Given the description of an element on the screen output the (x, y) to click on. 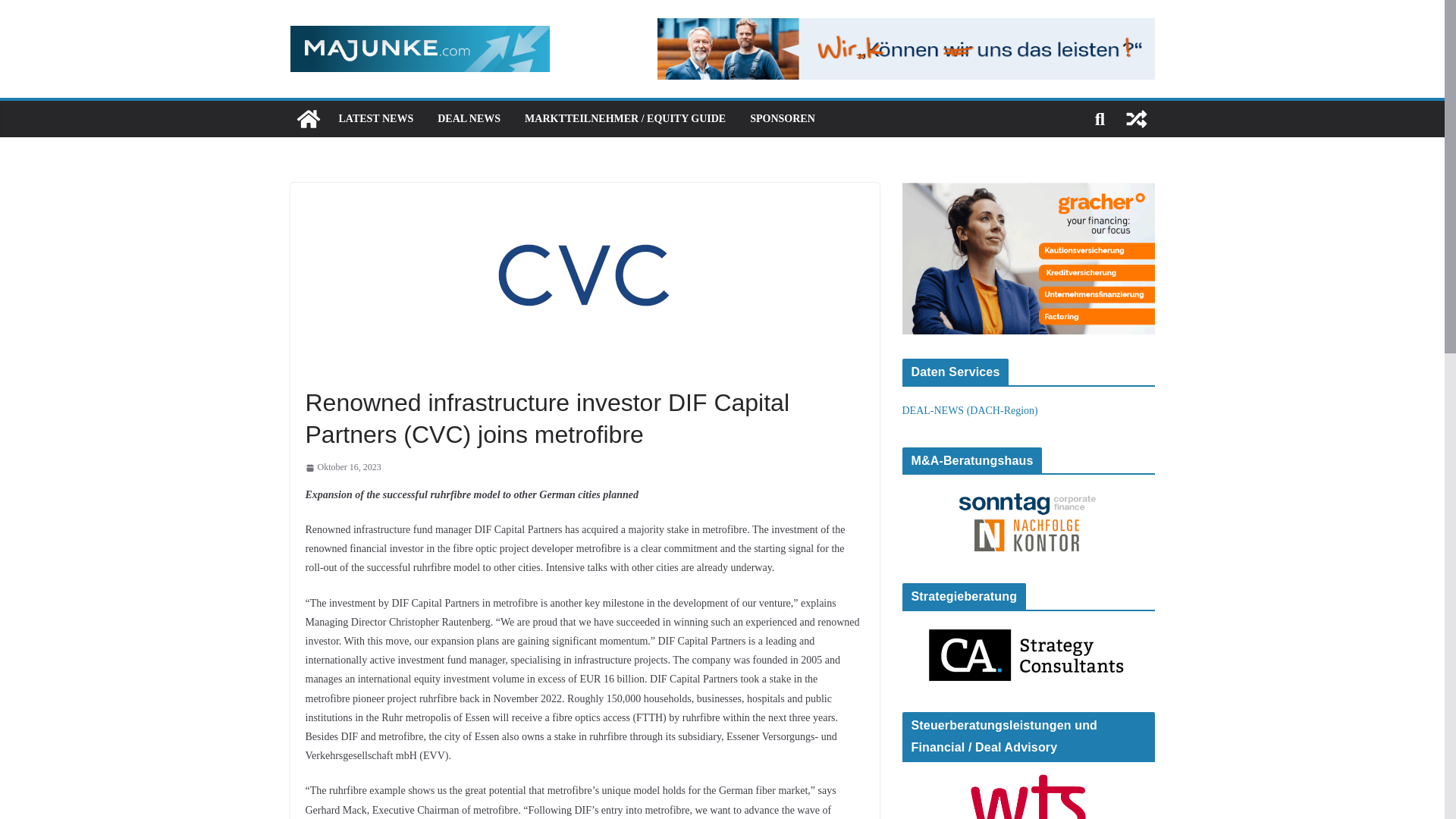
SPONSOREN (782, 118)
LATEST NEWS (375, 118)
MAJUNKE Consulting (307, 118)
Oktober 16, 2023 (342, 467)
2:22 pm (342, 467)
DEAL NEWS (469, 118)
